Given the description of an element on the screen output the (x, y) to click on. 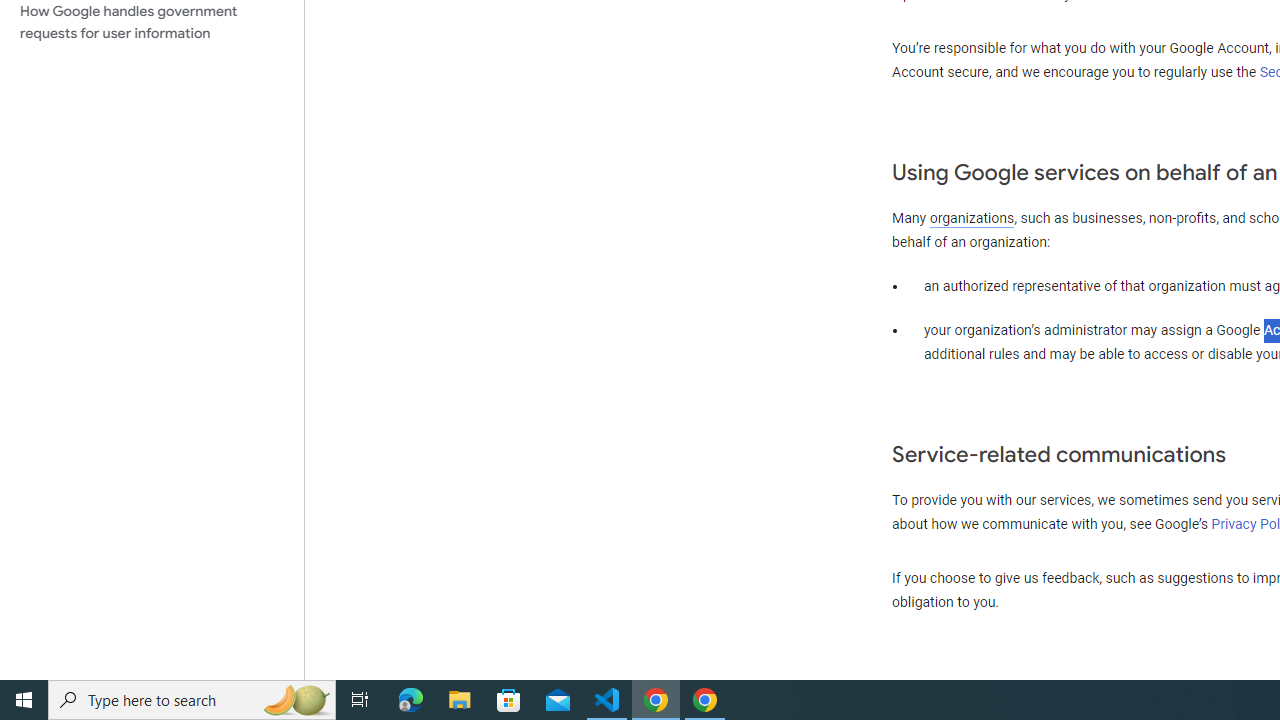
organizations (972, 218)
